Given the description of an element on the screen output the (x, y) to click on. 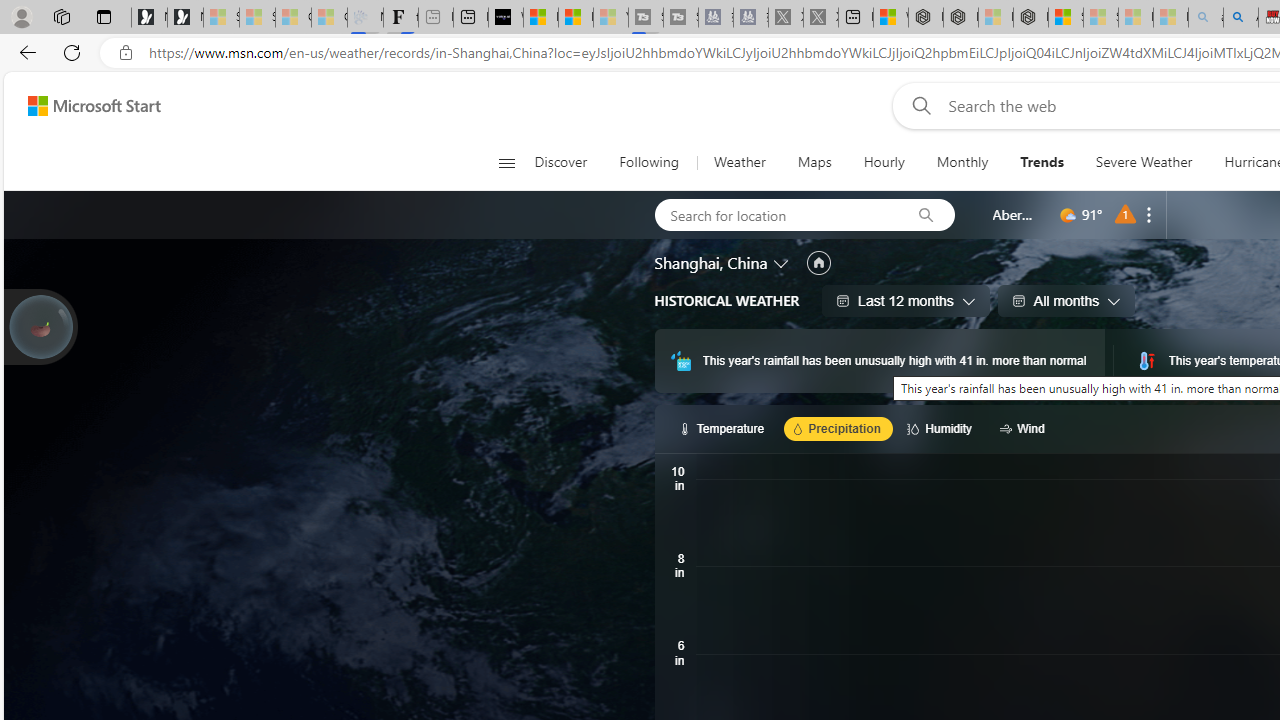
Shanghai, China (711, 263)
Remove location (1149, 214)
Trends (1041, 162)
Trends (1041, 162)
Set as primary location (818, 263)
Join us in planting real trees to help our planet! (40, 327)
Join us in planting real trees to help our planet! (40, 325)
